Given the description of an element on the screen output the (x, y) to click on. 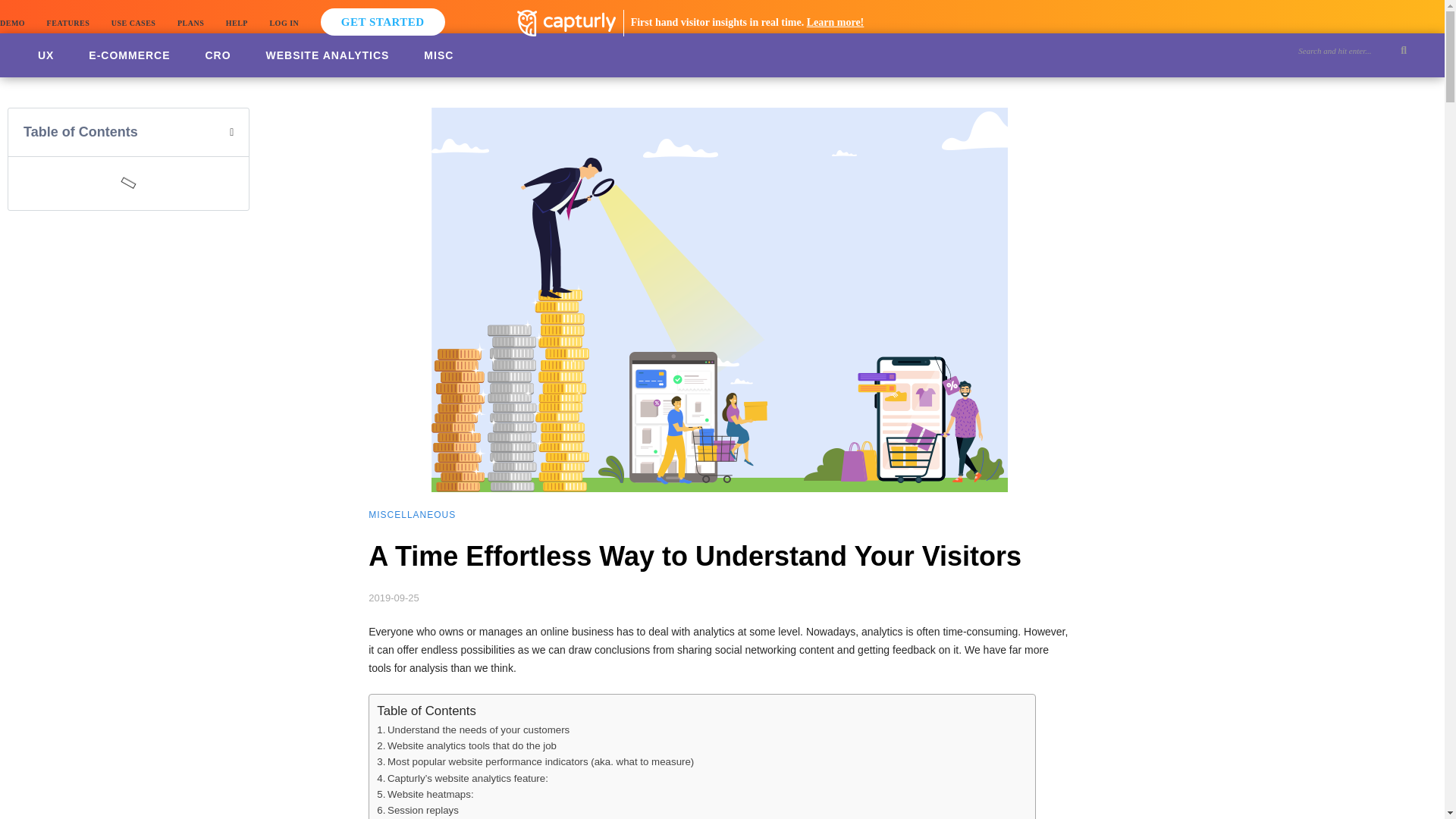
Learn more! (835, 21)
USE CASES (133, 23)
Website heatmaps: (425, 794)
FEATURES (68, 23)
Session replays (417, 810)
Website analytics tools that do the job (466, 745)
Understand the needs of your customers (473, 729)
GET STARTED (382, 22)
